Given the description of an element on the screen output the (x, y) to click on. 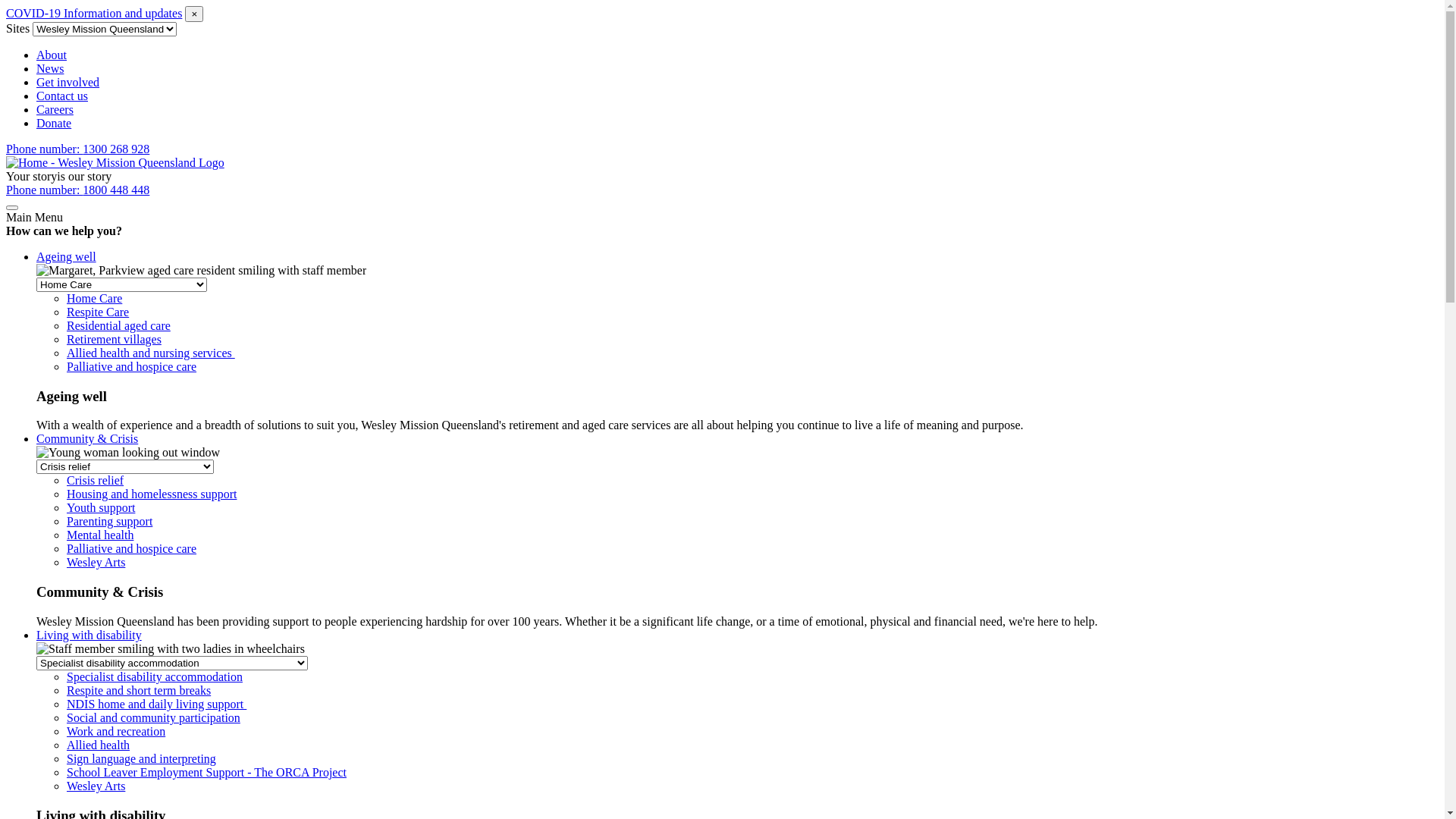
Respite Care Element type: text (97, 311)
Wesley Arts Element type: text (95, 785)
Specialist disability accommodation Element type: text (154, 676)
Get involved Element type: text (67, 81)
Palliative and hospice care Element type: text (131, 548)
School Leaver Employment Support - The ORCA Project Element type: text (206, 771)
Allied health Element type: text (97, 744)
Ageing well at Wesley Mission Queensland Element type: hover (201, 270)
Youth support Element type: text (100, 507)
Palliative and hospice care Element type: text (131, 366)
Allied health and nursing services  Element type: text (150, 352)
Living with disability Element type: text (88, 634)
Wesley Arts Element type: text (95, 561)
COVID-19 Information and updates Element type: text (94, 12)
Sign language and interpreting Element type: text (141, 758)
Parenting support Element type: text (109, 520)
Respite and short term breaks Element type: text (138, 690)
Retirement villages Element type: text (113, 338)
Crisis relief Element type: text (94, 479)
Donate Element type: text (53, 122)
Residential aged care Element type: text (118, 325)
Community & Crisis Element type: text (87, 438)
Phone number: 1300 268 928 Element type: text (77, 148)
Careers Element type: text (54, 109)
NDIS home and daily living support  Element type: text (156, 703)
Social and community participation Element type: text (153, 717)
Eagleby Neighbourhood Centre Element type: hover (127, 452)
Ageing well Element type: text (66, 256)
Work and recreation Element type: text (115, 730)
Disability services at Wesley Mission Queensland Element type: hover (170, 648)
Home Care Element type: text (94, 297)
About Element type: text (51, 54)
Mental health Element type: text (99, 534)
Contact us Element type: text (61, 95)
Housing and homelessness support Element type: text (151, 493)
News Element type: text (49, 68)
Phone number: 1800 448 448 Element type: text (77, 189)
Return to homepage Element type: hover (115, 162)
